Given the description of an element on the screen output the (x, y) to click on. 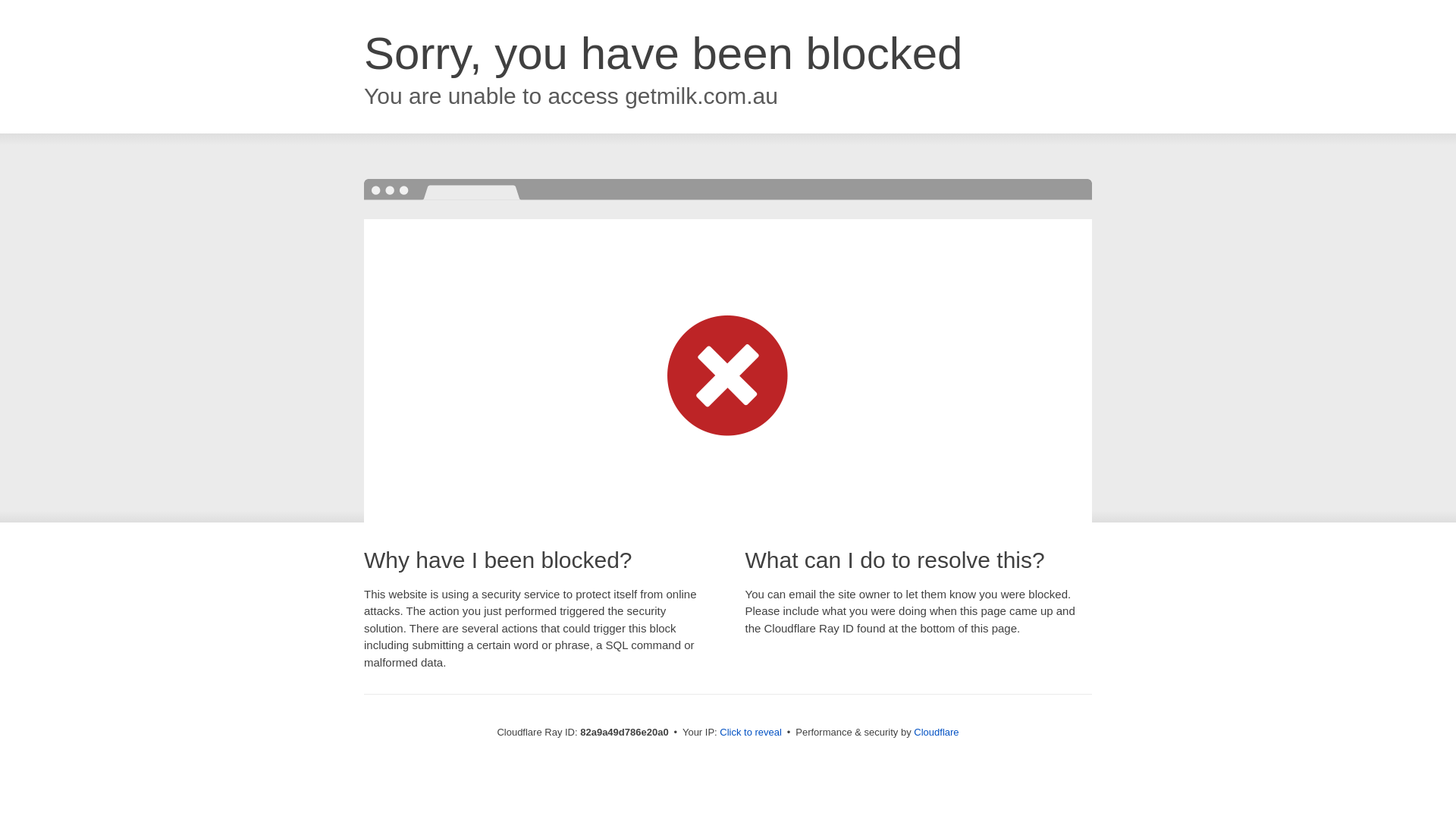
Cloudflare Element type: text (935, 731)
Click to reveal Element type: text (750, 732)
